Given the description of an element on the screen output the (x, y) to click on. 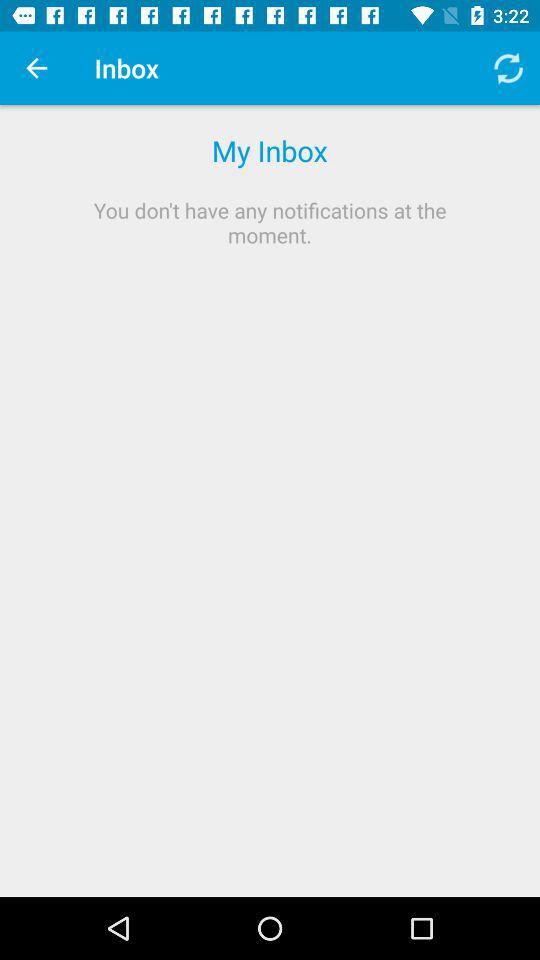
click item at the top right corner (508, 67)
